Given the description of an element on the screen output the (x, y) to click on. 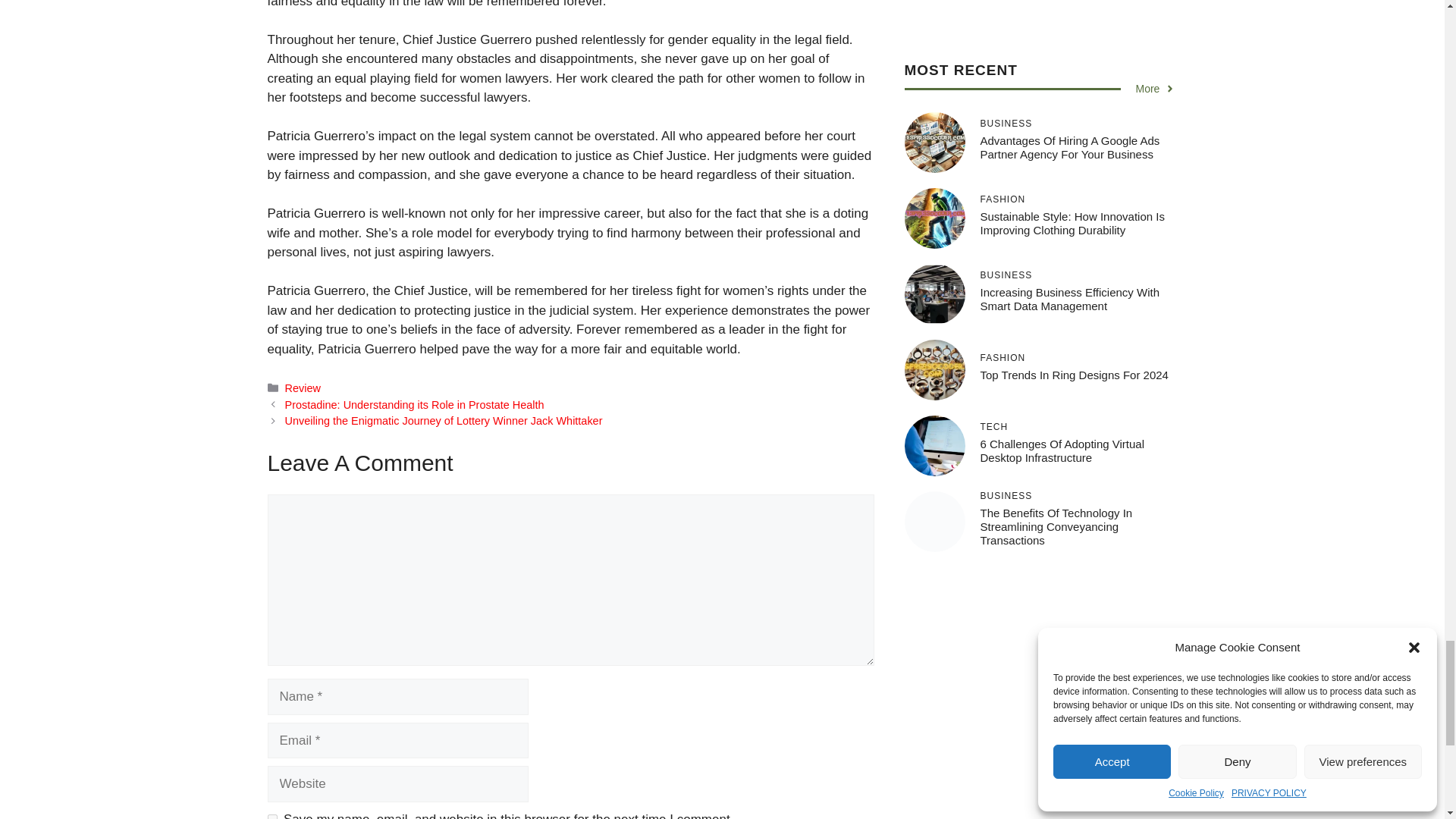
Prostadine: Understanding its Role in Prostate Health (414, 404)
Review (302, 387)
yes (271, 816)
